Given the description of an element on the screen output the (x, y) to click on. 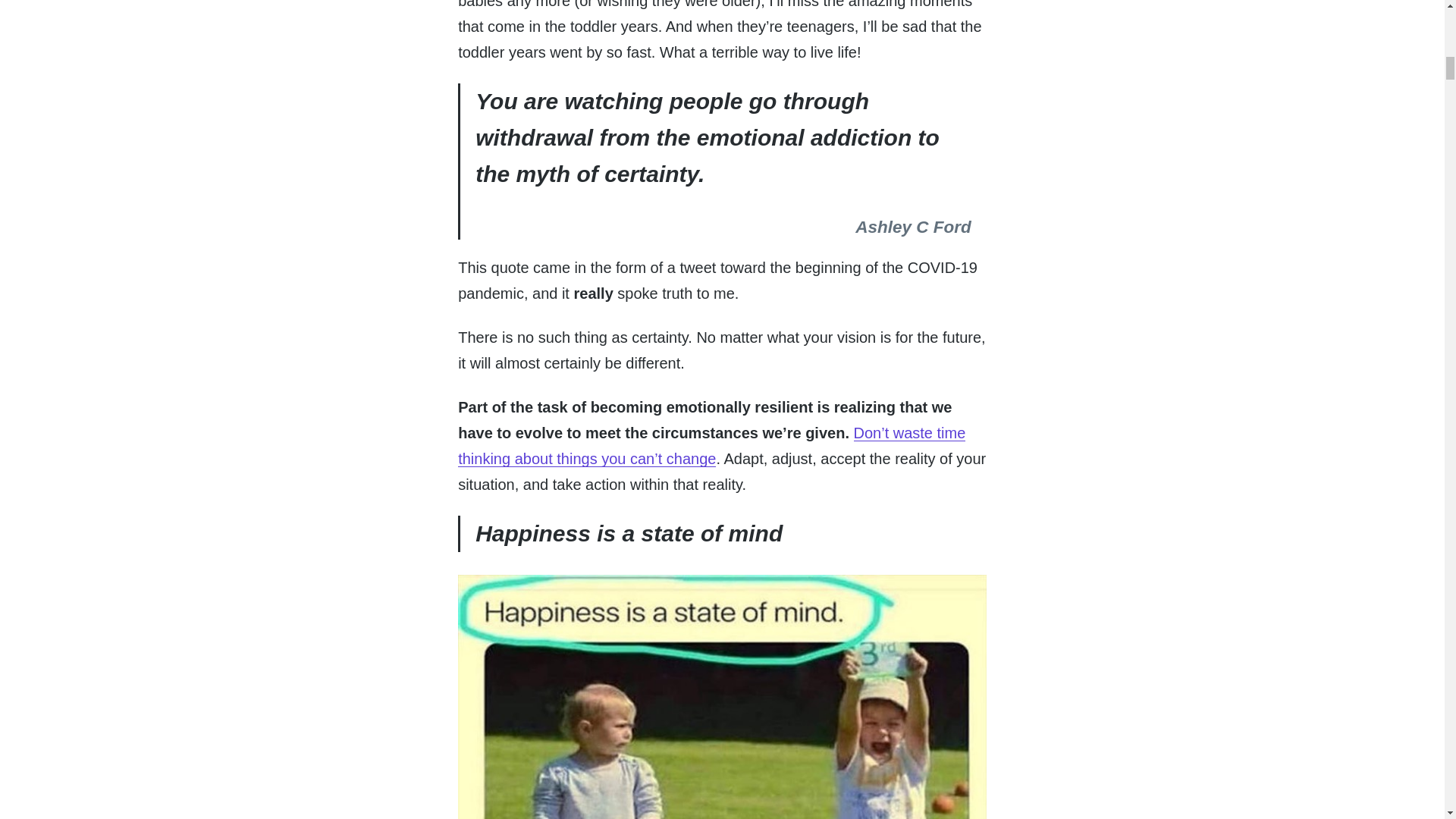
Ashley C Ford (913, 226)
